Given the description of an element on the screen output the (x, y) to click on. 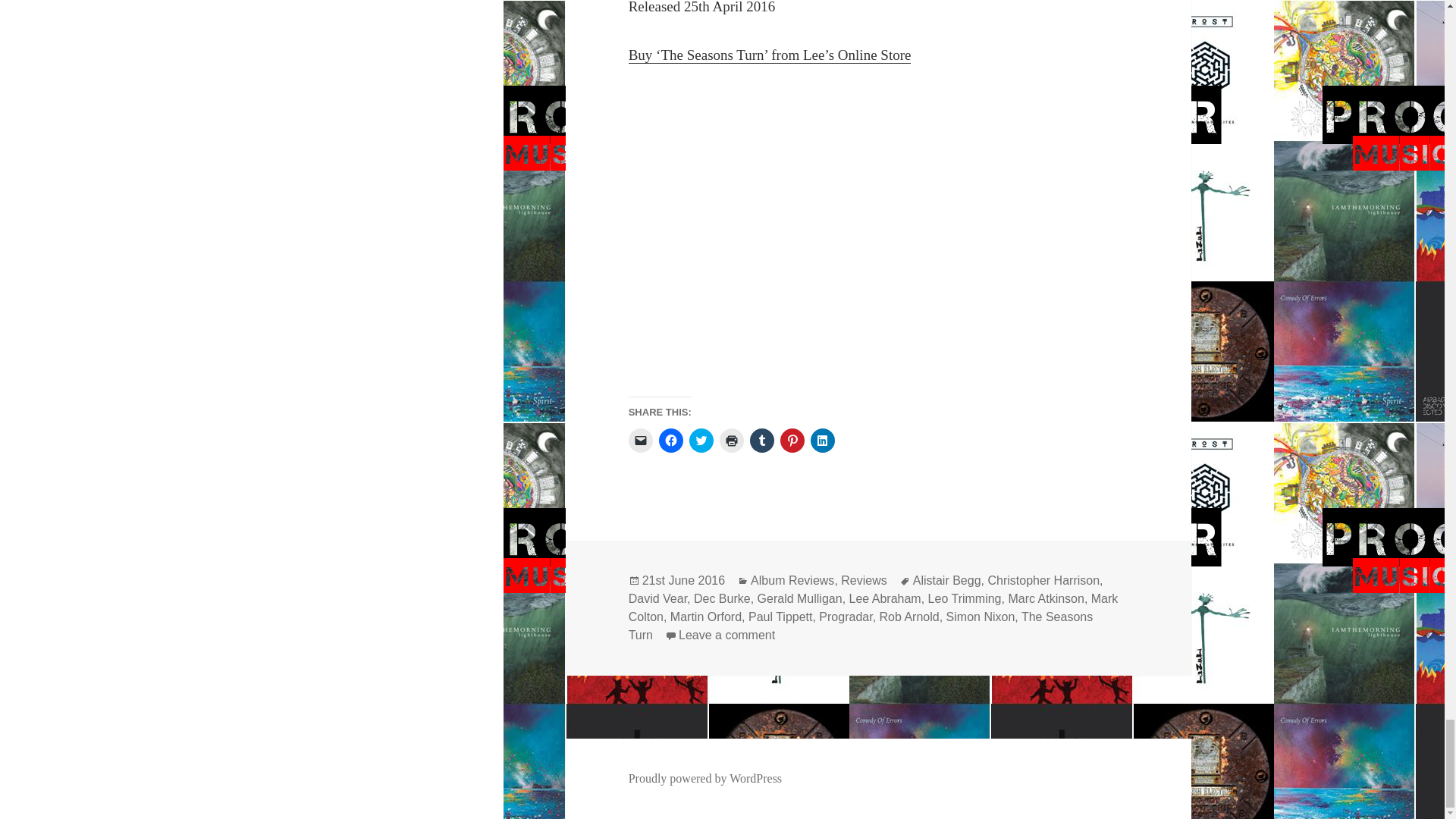
Click to email a link to a friend (640, 440)
Click to share on Twitter (700, 440)
Click to share on Tumblr (761, 440)
Click to share on Facebook (670, 440)
Click to share on Pinterest (792, 440)
Click to print (731, 440)
Click to share on LinkedIn (822, 440)
